Given the description of an element on the screen output the (x, y) to click on. 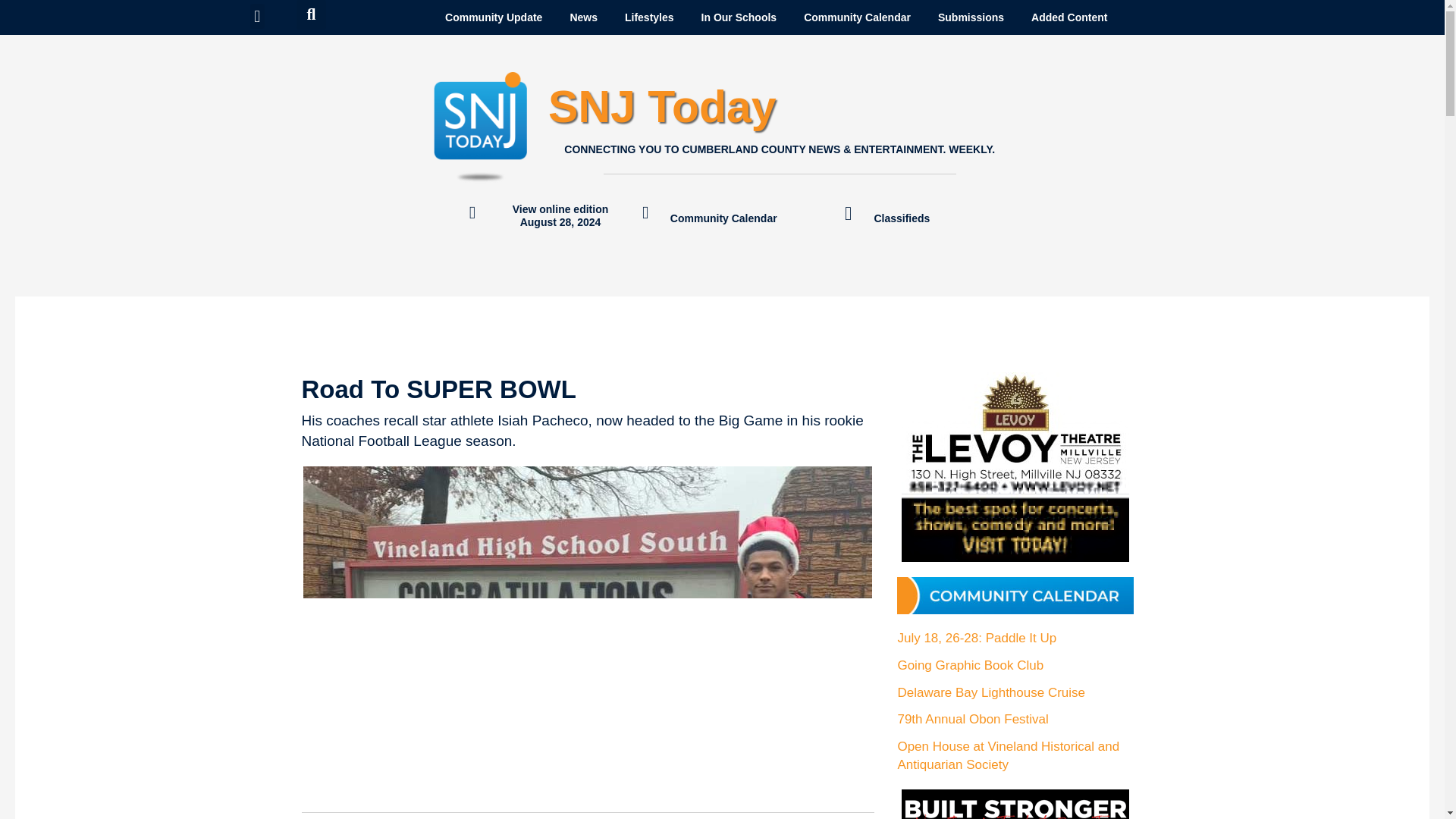
Community Update (493, 17)
Community Calendar (857, 17)
Lifestyles (649, 17)
News (583, 17)
Submissions (970, 17)
Added Content (1069, 17)
In Our Schools (738, 17)
